Given the description of an element on the screen output the (x, y) to click on. 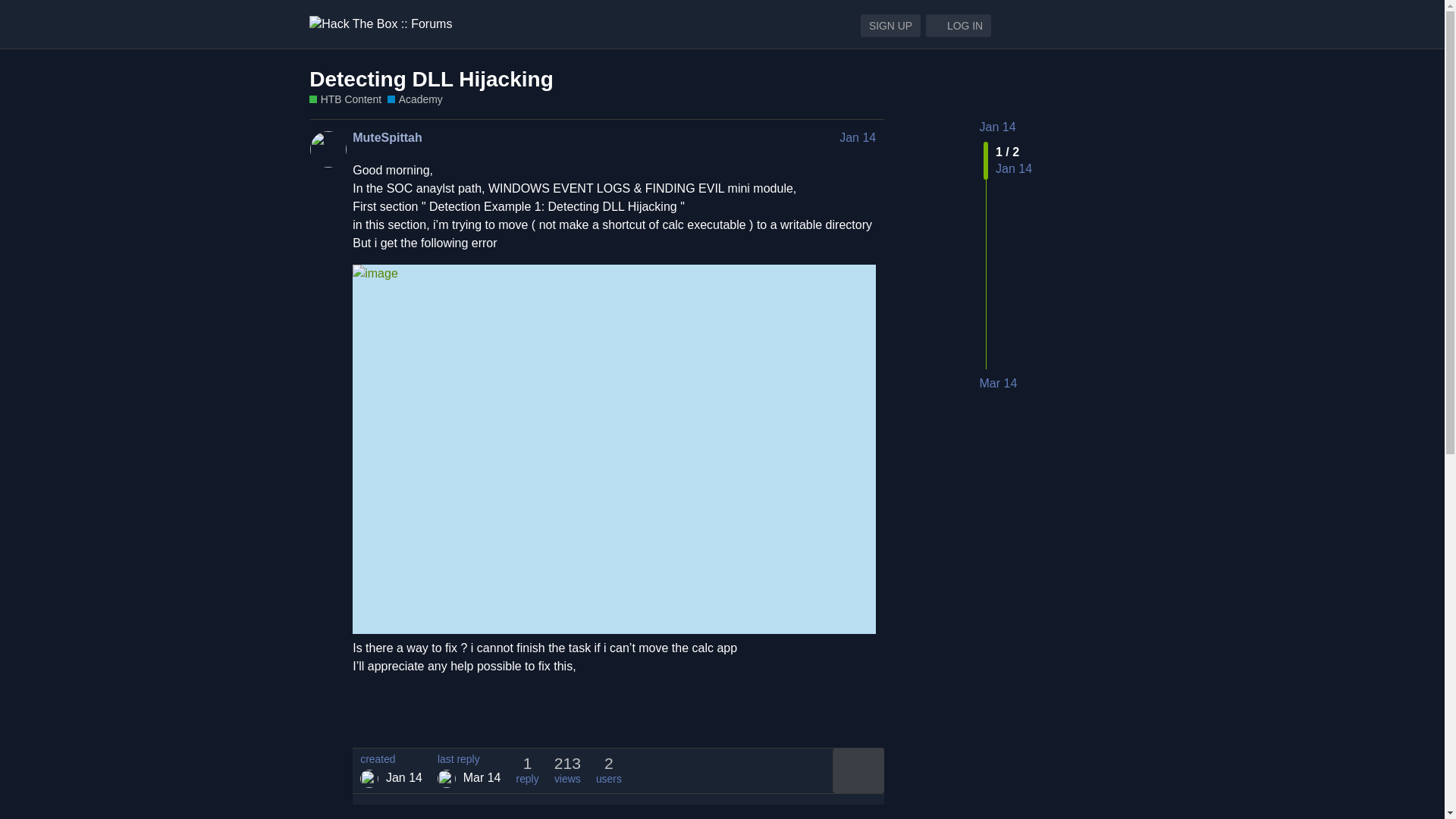
Jump to the last post (998, 382)
last reply (469, 759)
DESKTOP-ONLY LINK (1048, 23)
MuteSpittah (368, 778)
like this post (835, 718)
copy a link to this post to clipboard (869, 718)
Desktop-only link (1048, 23)
wakara9 (446, 778)
Jan 14 (997, 126)
HTB Content (344, 99)
Jump to the first post (997, 126)
Mar 14 (998, 383)
SIGN UP (890, 25)
menu (1117, 23)
Jan 14, 2024 2:05 am (403, 777)
